Given the description of an element on the screen output the (x, y) to click on. 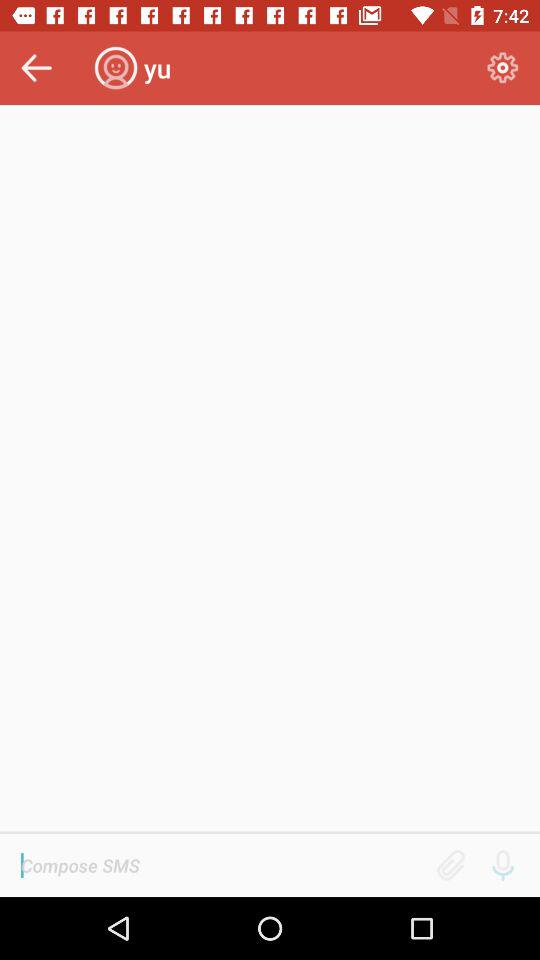
sms text blank bar (222, 865)
